Given the description of an element on the screen output the (x, y) to click on. 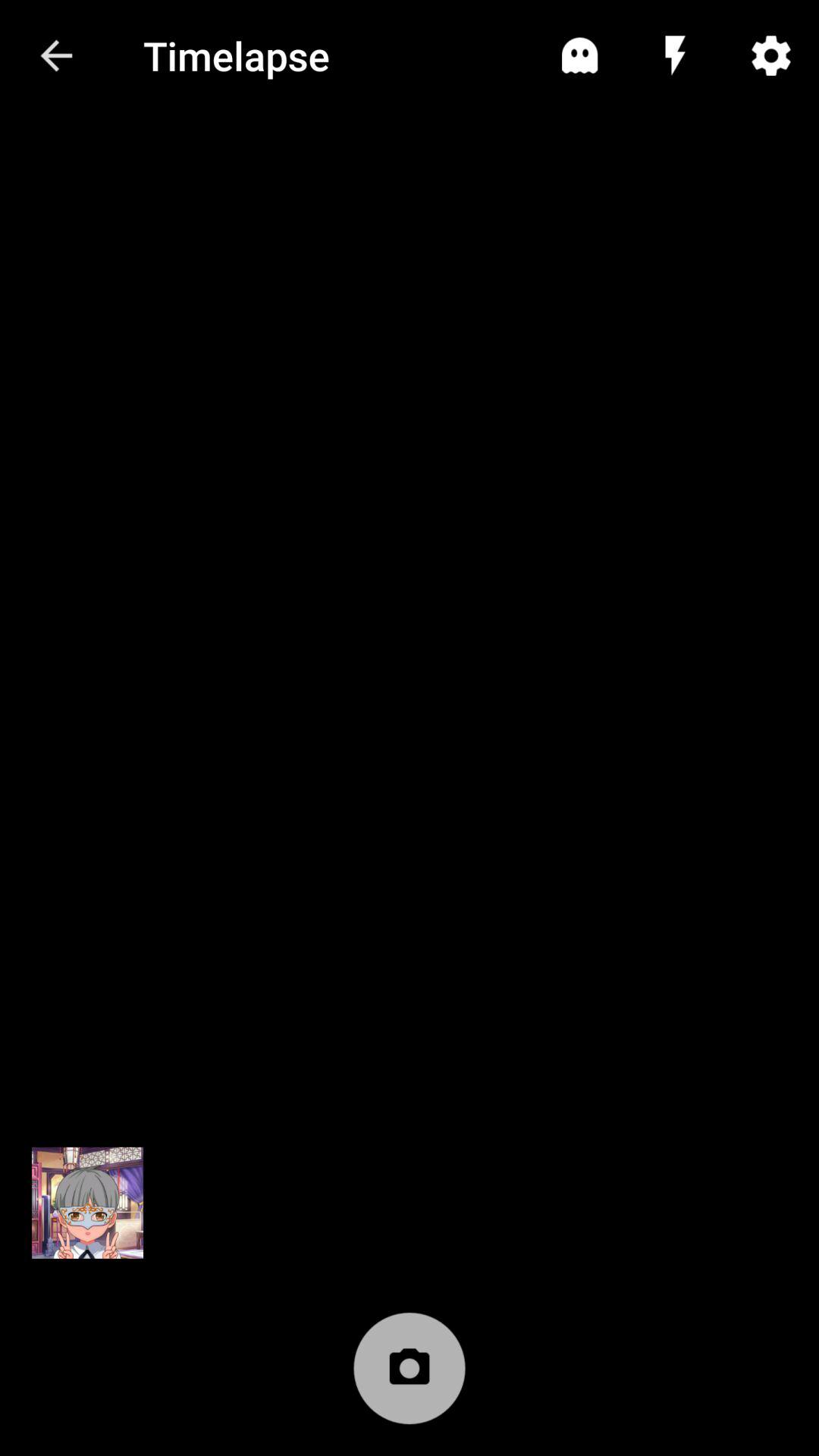
click item next to the timelapse item (55, 55)
